Given the description of an element on the screen output the (x, y) to click on. 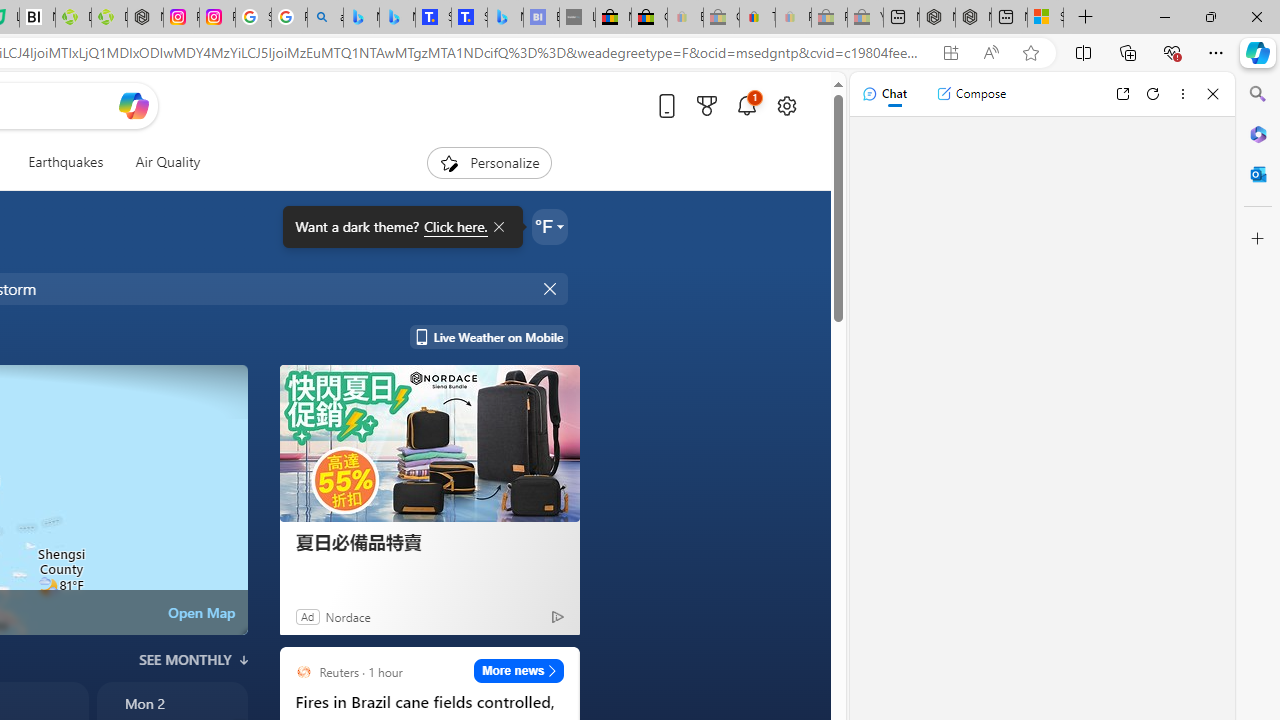
Chat (884, 93)
Earthquakes (65, 162)
Safety in Our Products - Google Safety Center (253, 17)
alabama high school quarterback dies - Search (325, 17)
More news (518, 670)
Open settings (786, 105)
Nvidia va a poner a prueba la paciencia de los inversores (37, 17)
Air Quality (159, 162)
